Given the description of an element on the screen output the (x, y) to click on. 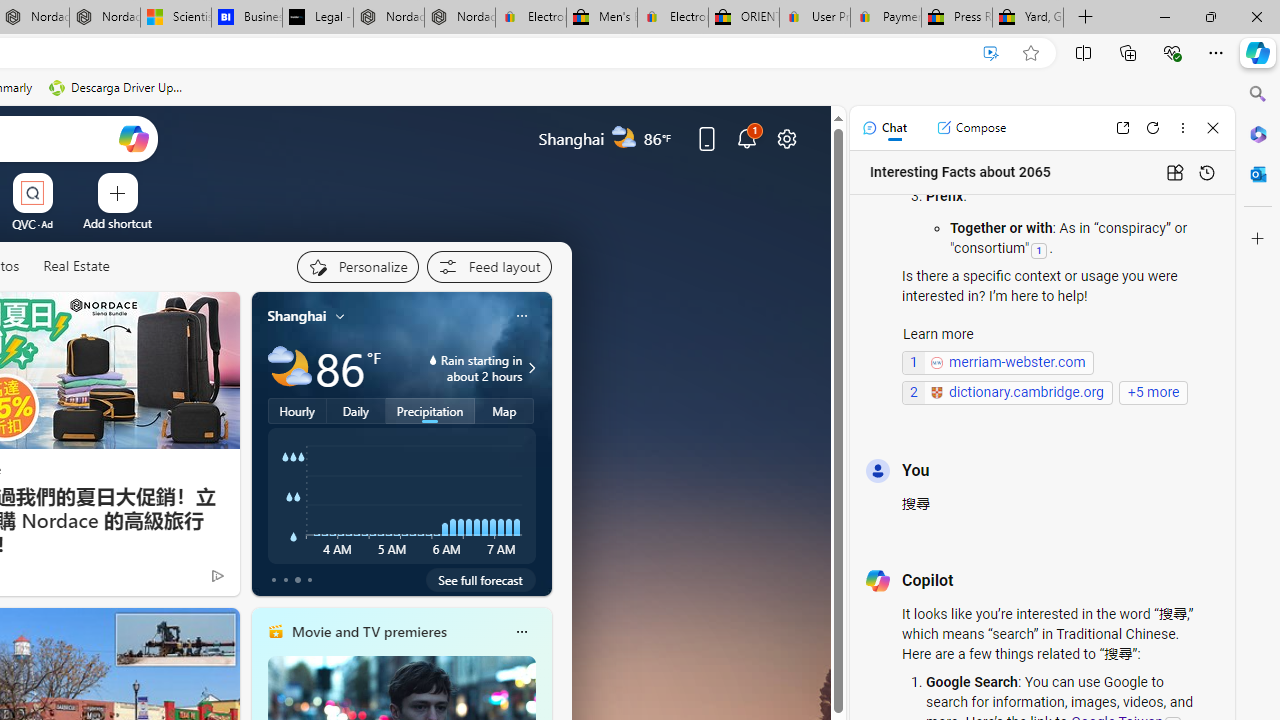
water-drop-icon (433, 359)
You're following The Weather Channel (175, 579)
tab-1 (285, 579)
tab-0 (273, 579)
tab-2 (297, 579)
Movie and TV premieres (368, 631)
